Given the description of an element on the screen output the (x, y) to click on. 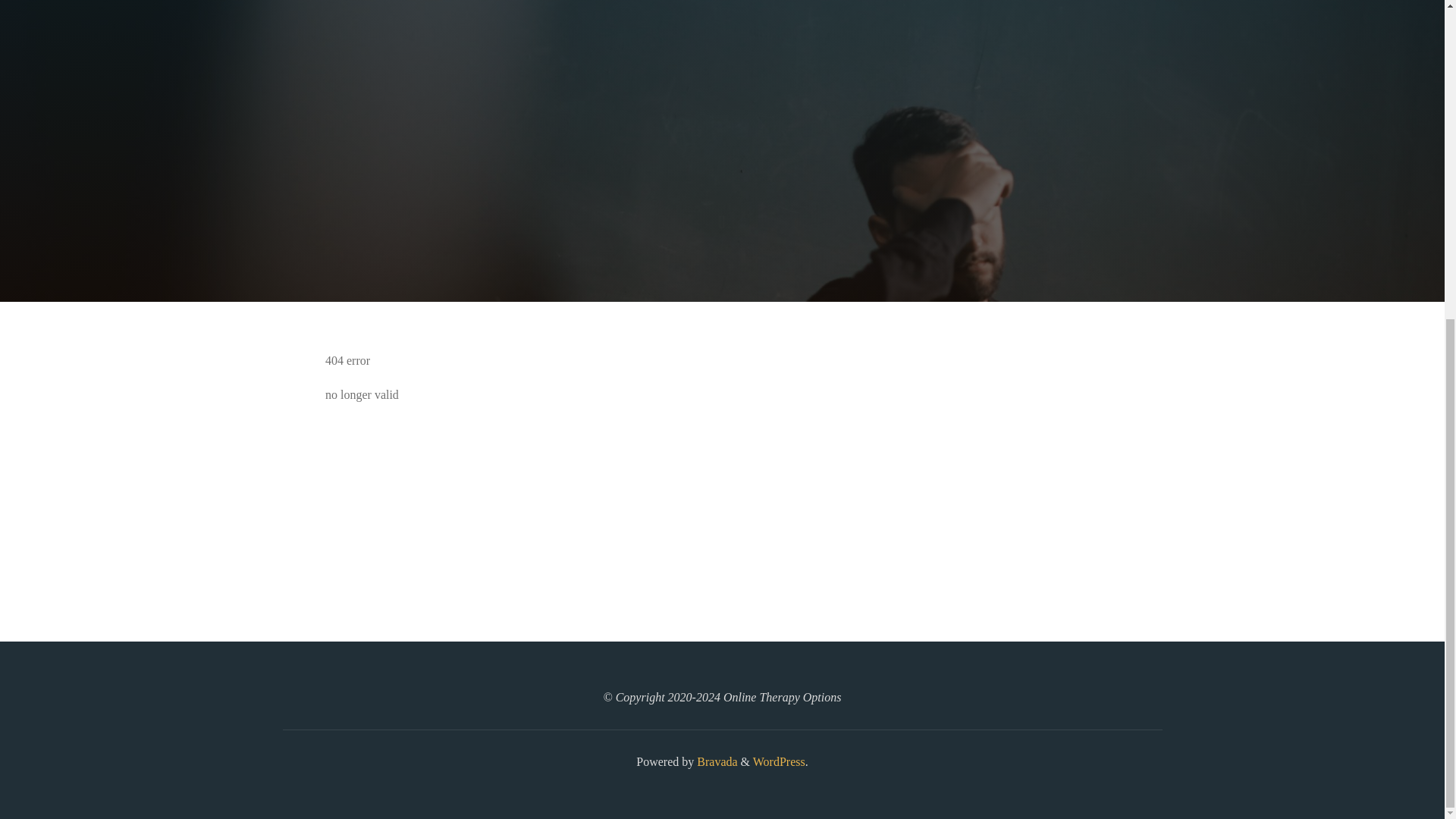
Bravada (715, 761)
Semantic Personal Publishing Platform (778, 761)
Bravada WordPress Theme by Cryout Creations (715, 761)
WordPress (778, 761)
Read more (721, 207)
